Given the description of an element on the screen output the (x, y) to click on. 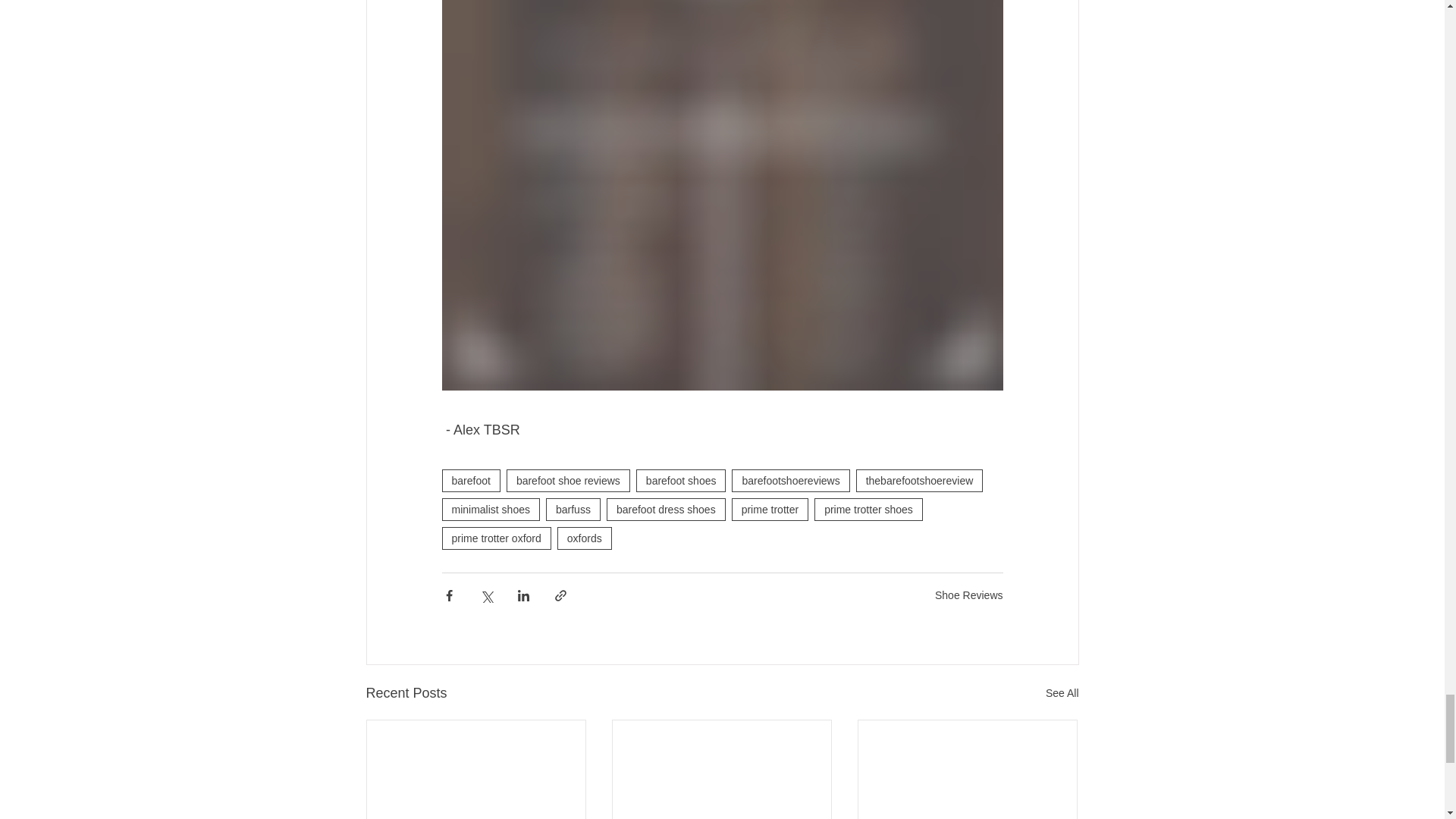
barfuss (572, 508)
oxfords (584, 538)
prime trotter oxford (495, 538)
barefoot (470, 480)
barefootshoereviews (790, 480)
See All (1061, 693)
minimalist shoes (489, 508)
prime trotter (770, 508)
prime trotter shoes (868, 508)
barefoot dress shoes (666, 508)
